Given the description of an element on the screen output the (x, y) to click on. 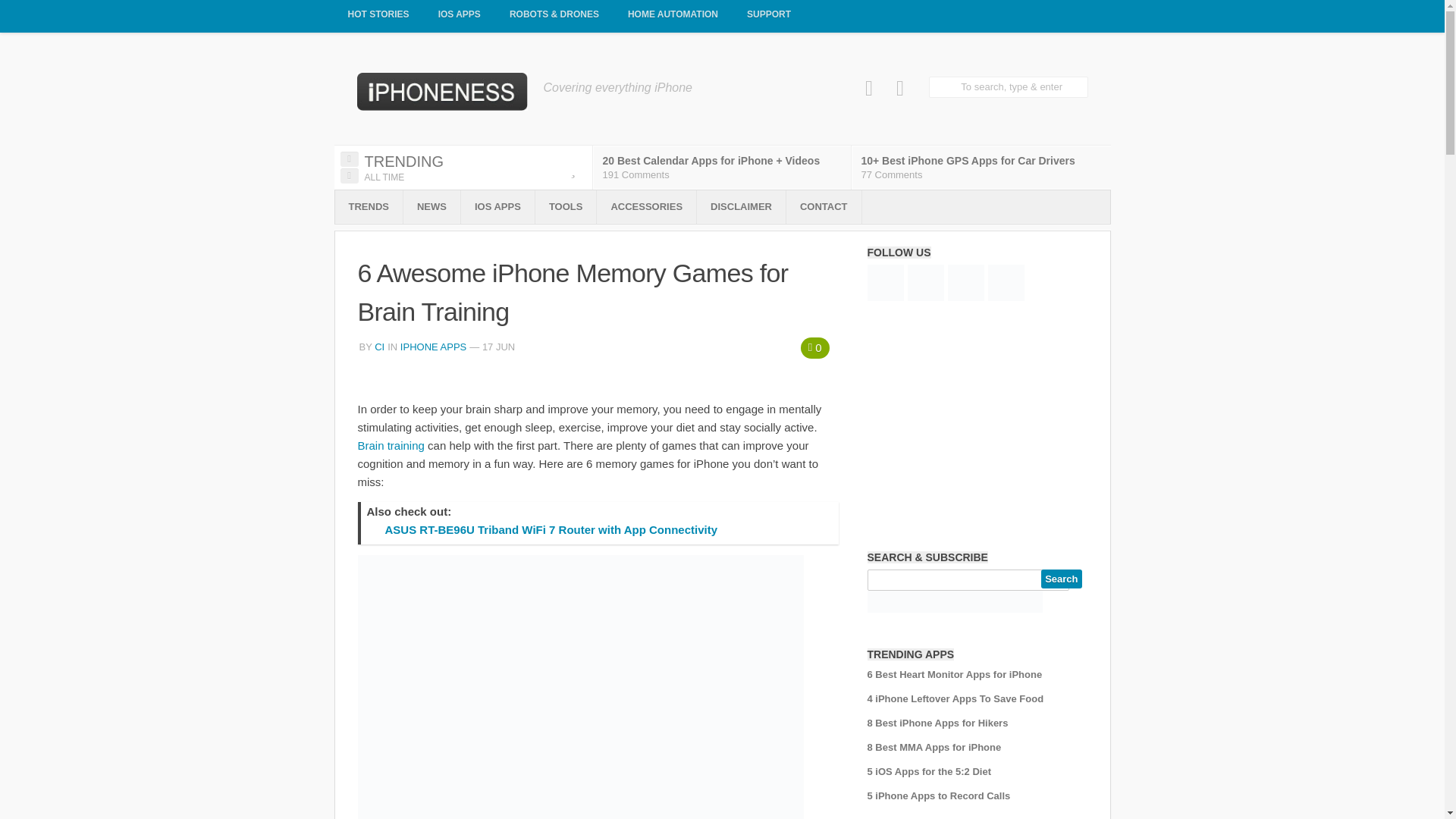
Pinterest (900, 87)
TRENDS (368, 206)
HOME AUTOMATION (673, 16)
Facebook (869, 87)
IOS APPS (460, 16)
SUPPORT (769, 16)
HOT STORIES (377, 16)
Search (1061, 578)
NEWS (431, 206)
